Given the description of an element on the screen output the (x, y) to click on. 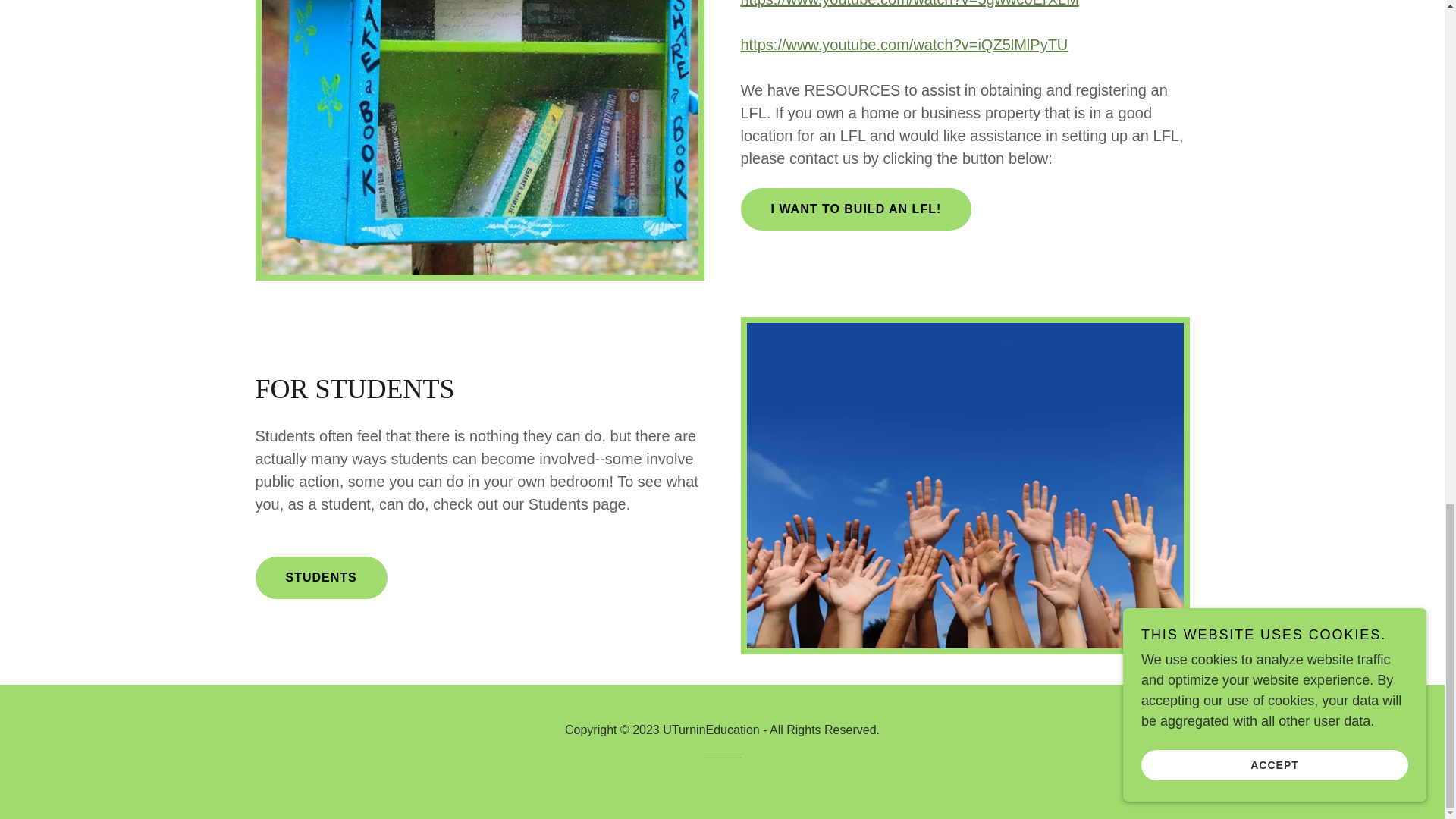
I WANT TO BUILD AN LFL! (855, 209)
